Given the description of an element on the screen output the (x, y) to click on. 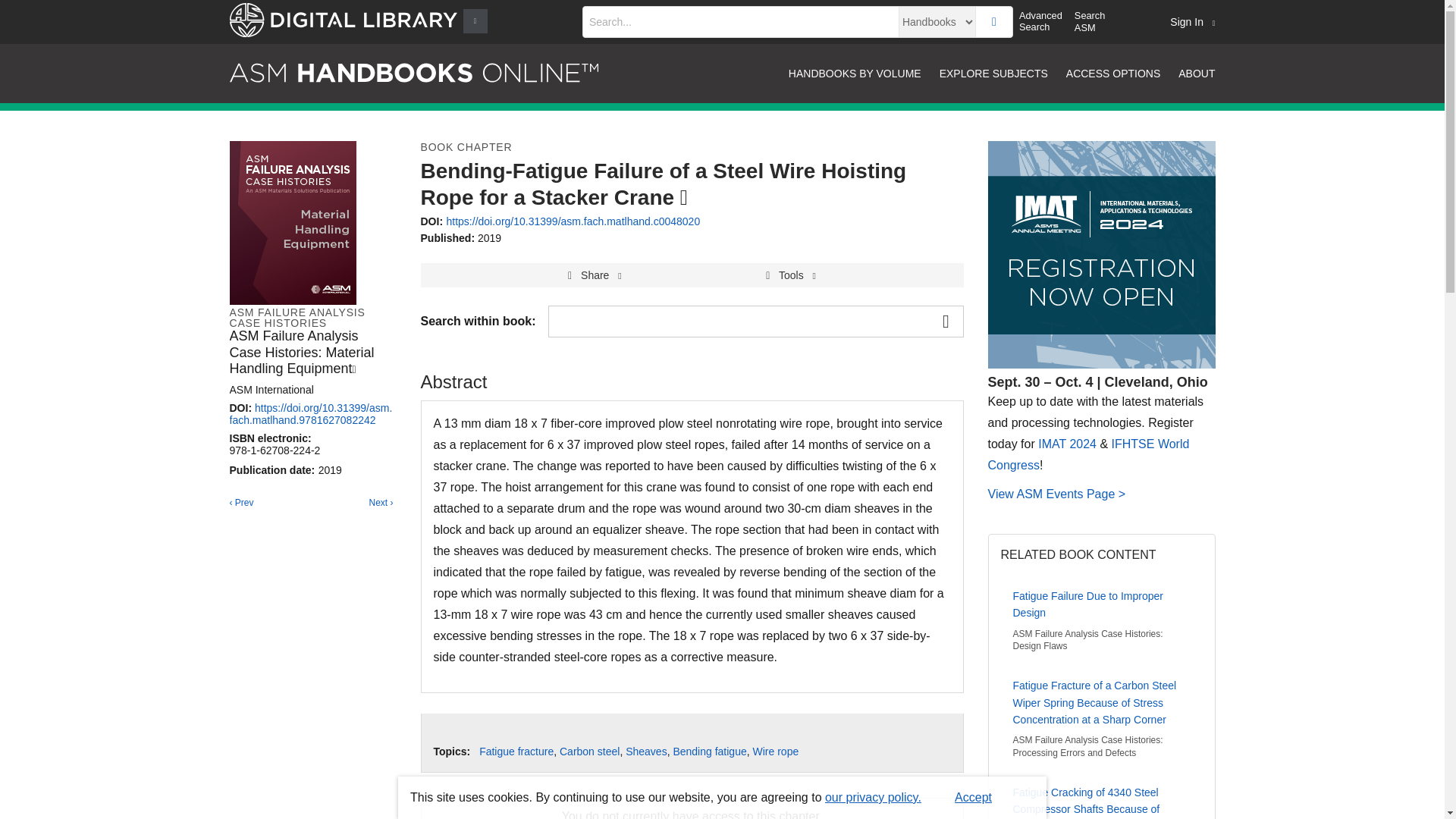
search input (740, 21)
